Given the description of an element on the screen output the (x, y) to click on. 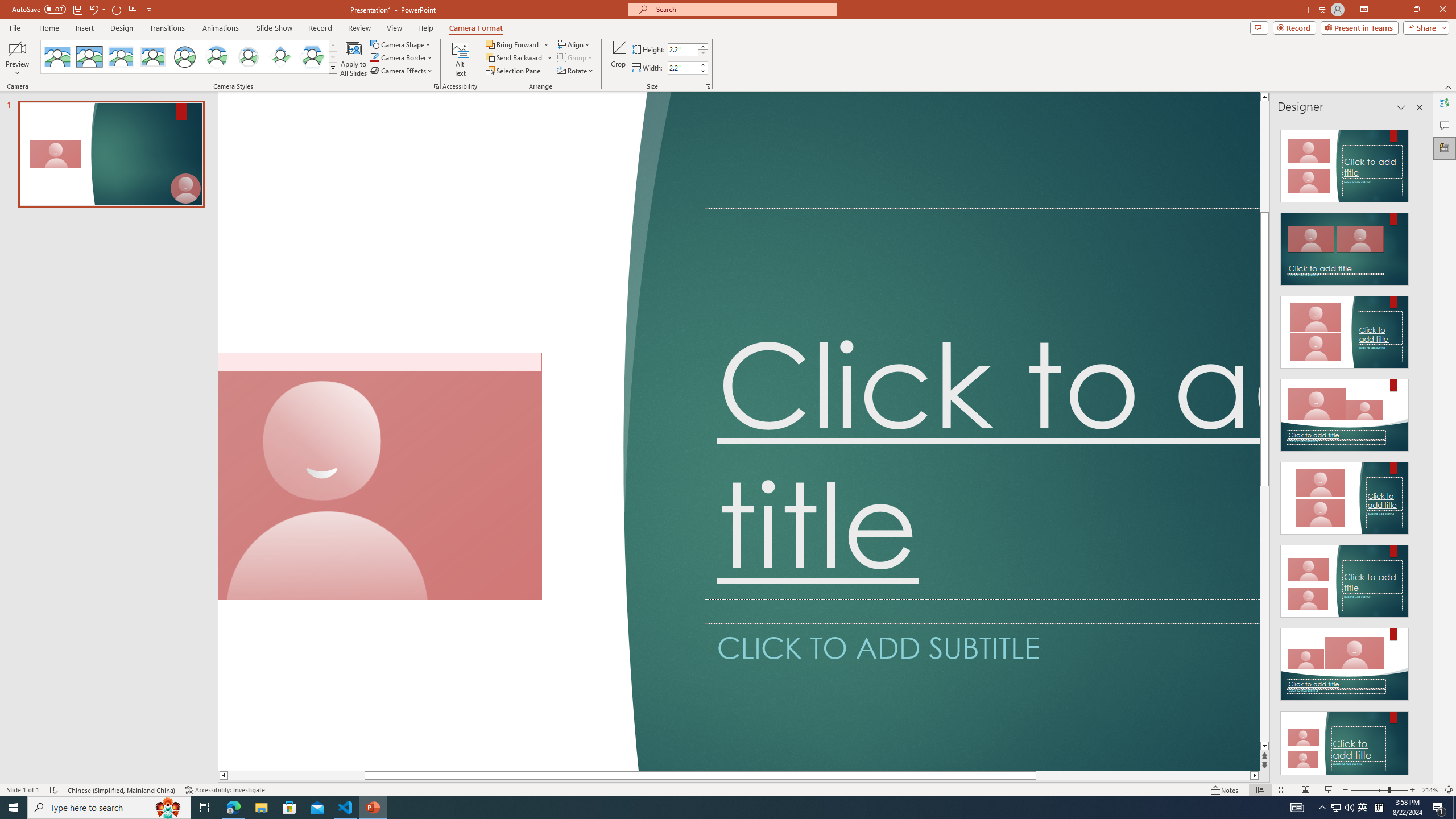
Camera Effects (402, 69)
Size and Position... (707, 85)
Class: NetUIScrollBar (1418, 447)
No Style (57, 56)
Center Shadow Circle (216, 56)
Camera Border (401, 56)
